Given the description of an element on the screen output the (x, y) to click on. 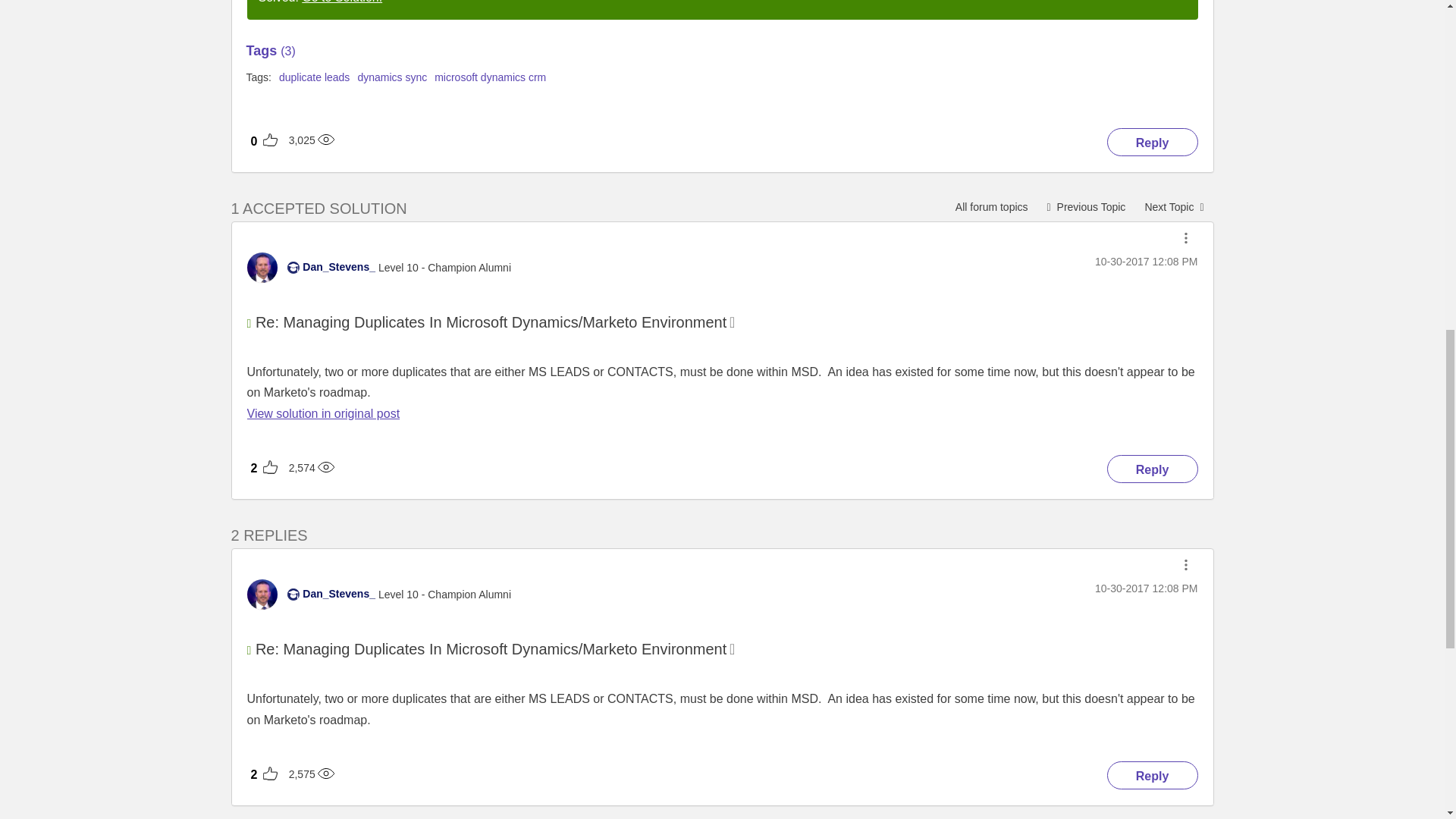
The total number of likes this post has received. (254, 141)
All forum topics (991, 205)
People in multiple engagement programs (1085, 205)
duplicate leads (314, 77)
Reply (1152, 141)
Previous Topic (1085, 205)
Show option menu (1185, 238)
Click here to give likes to this post. (336, 381)
Level 10 - Champion Alumni (292, 267)
microsoft dynamics crm (489, 77)
Go to Solution. (341, 2)
Product Discussions (991, 205)
dynamics sync (391, 77)
